Given the description of an element on the screen output the (x, y) to click on. 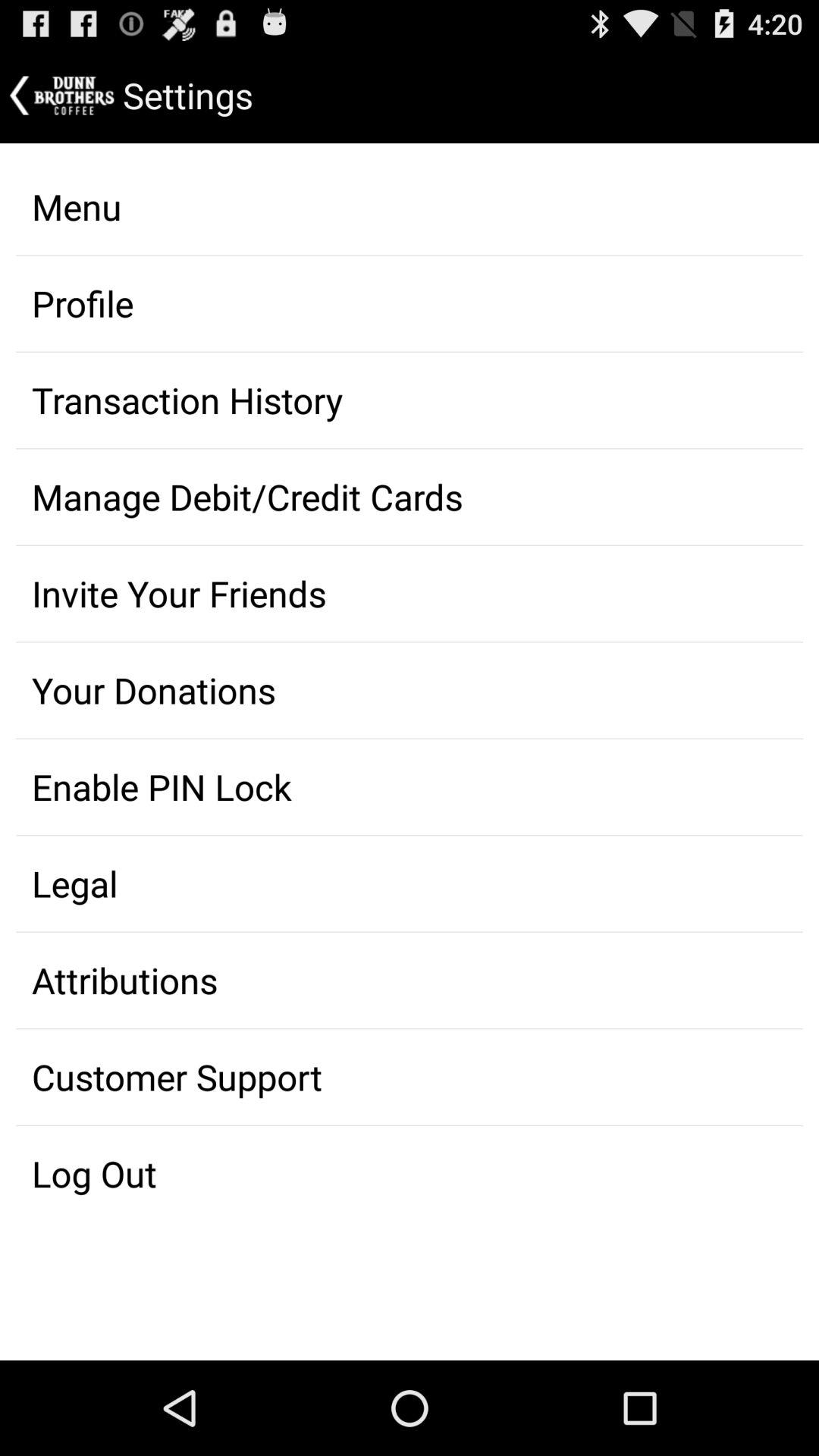
open profile (409, 303)
